Given the description of an element on the screen output the (x, y) to click on. 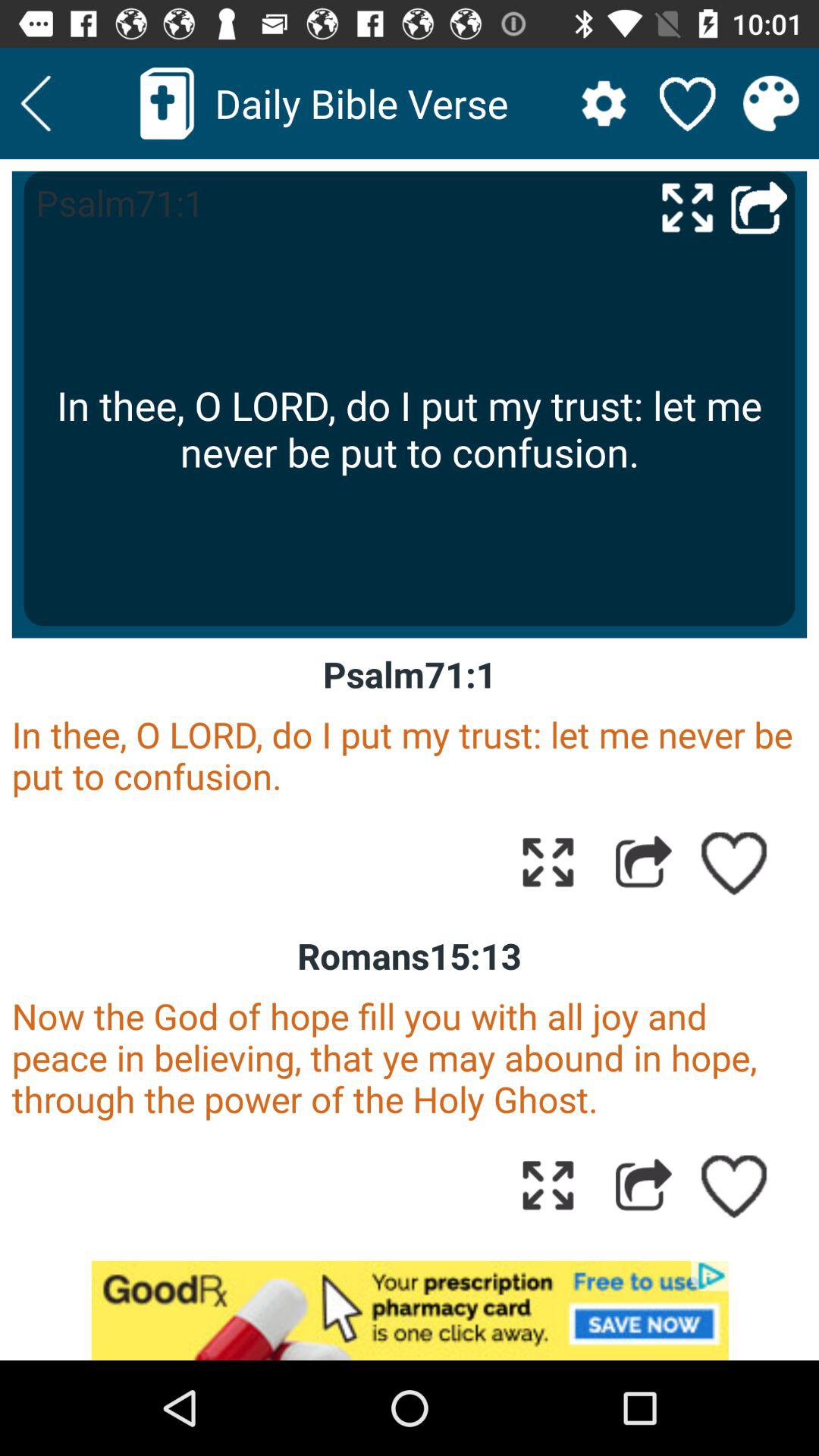
settings tab (603, 103)
